Given the description of an element on the screen output the (x, y) to click on. 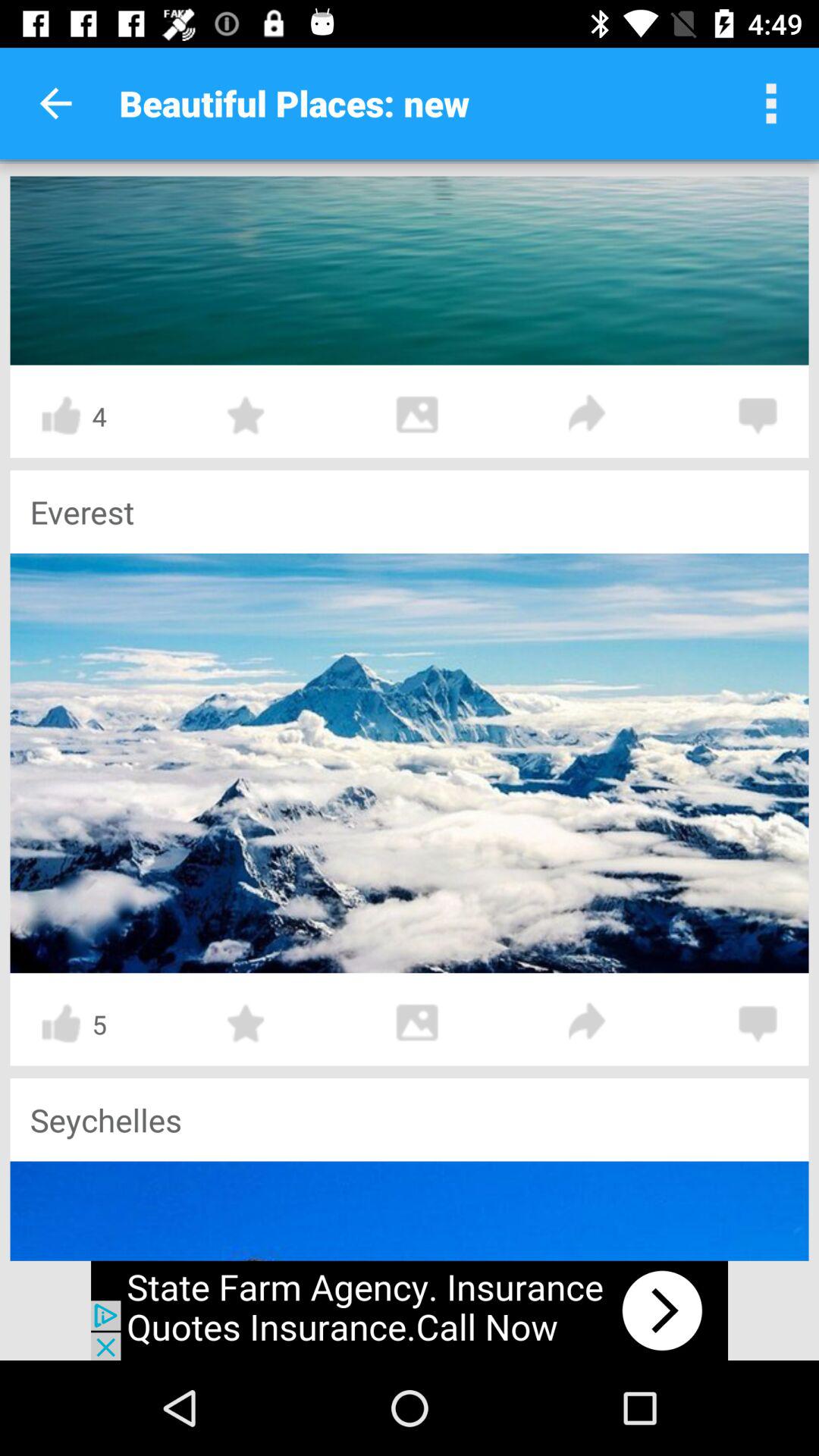
open share options (587, 415)
